Given the description of an element on the screen output the (x, y) to click on. 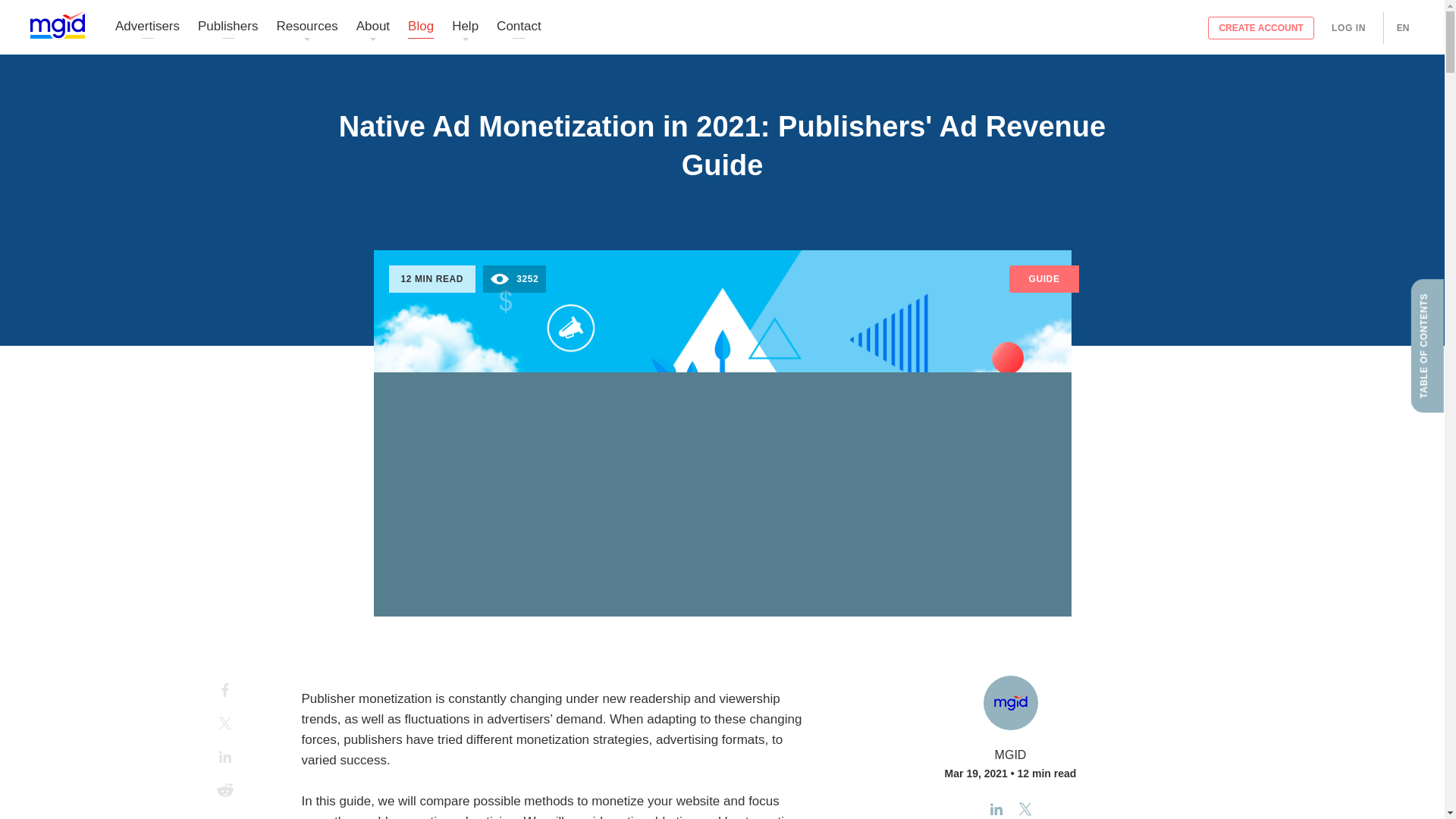
Advertisers (147, 27)
LOG IN (1348, 27)
Guides (721, 197)
EN (1402, 27)
Contact (518, 27)
CREATE ACCOUNT (1261, 27)
Publishers (227, 27)
